Given the description of an element on the screen output the (x, y) to click on. 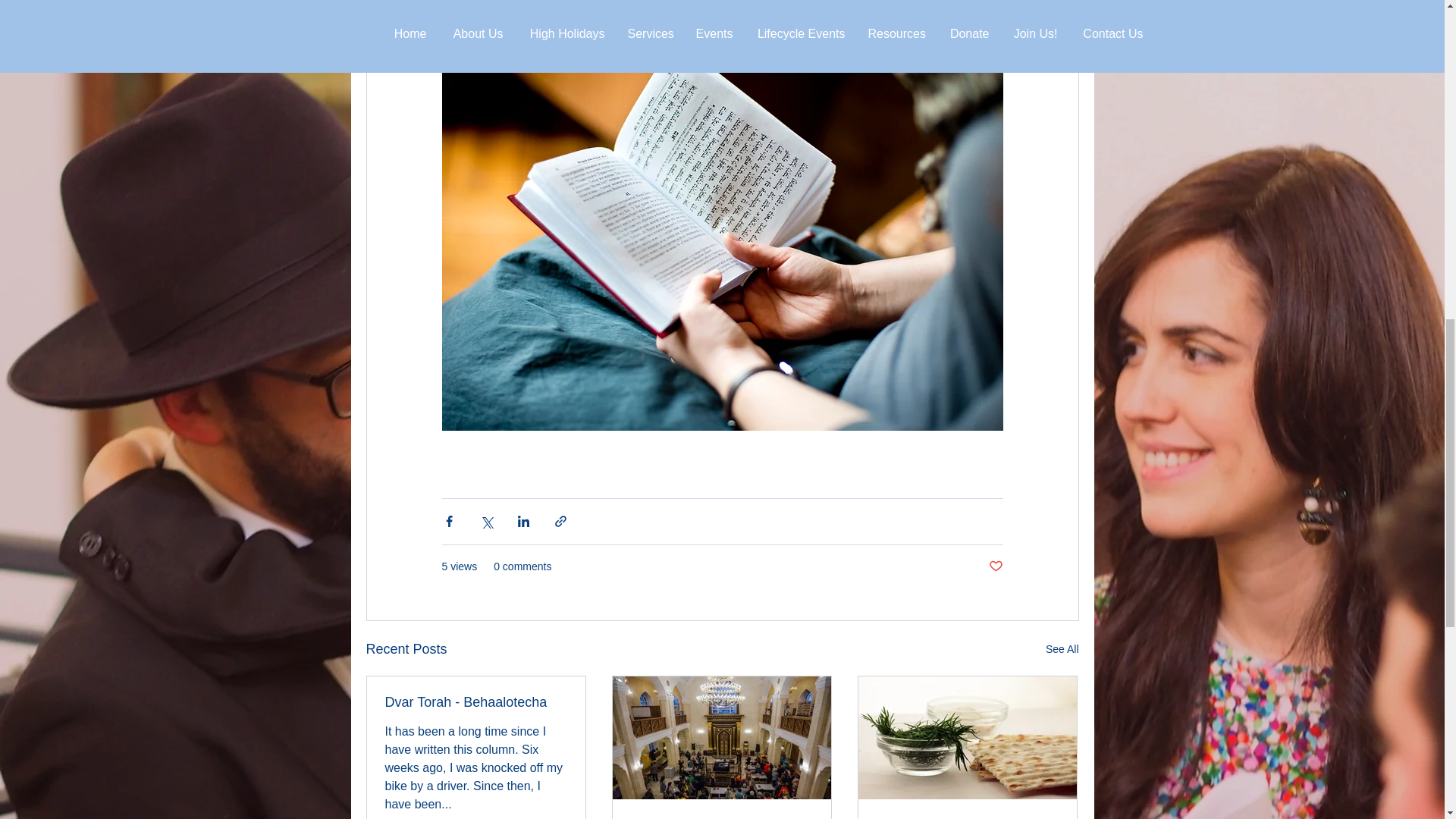
Dvar Torah - Behaalotecha (476, 702)
Post not marked as liked (995, 566)
See All (1061, 649)
